Given the description of an element on the screen output the (x, y) to click on. 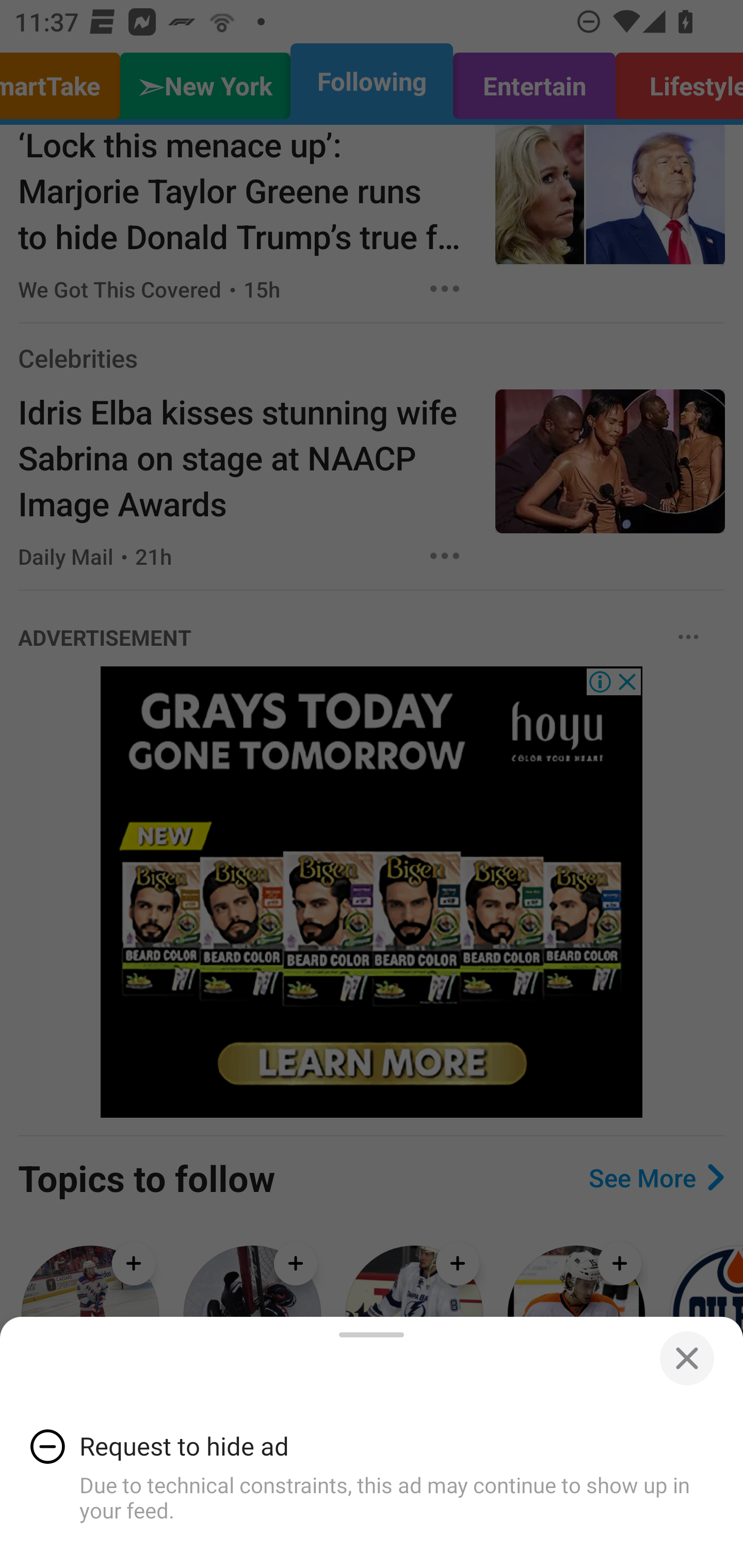
Close bottom sheet (686, 1358)
